Given the description of an element on the screen output the (x, y) to click on. 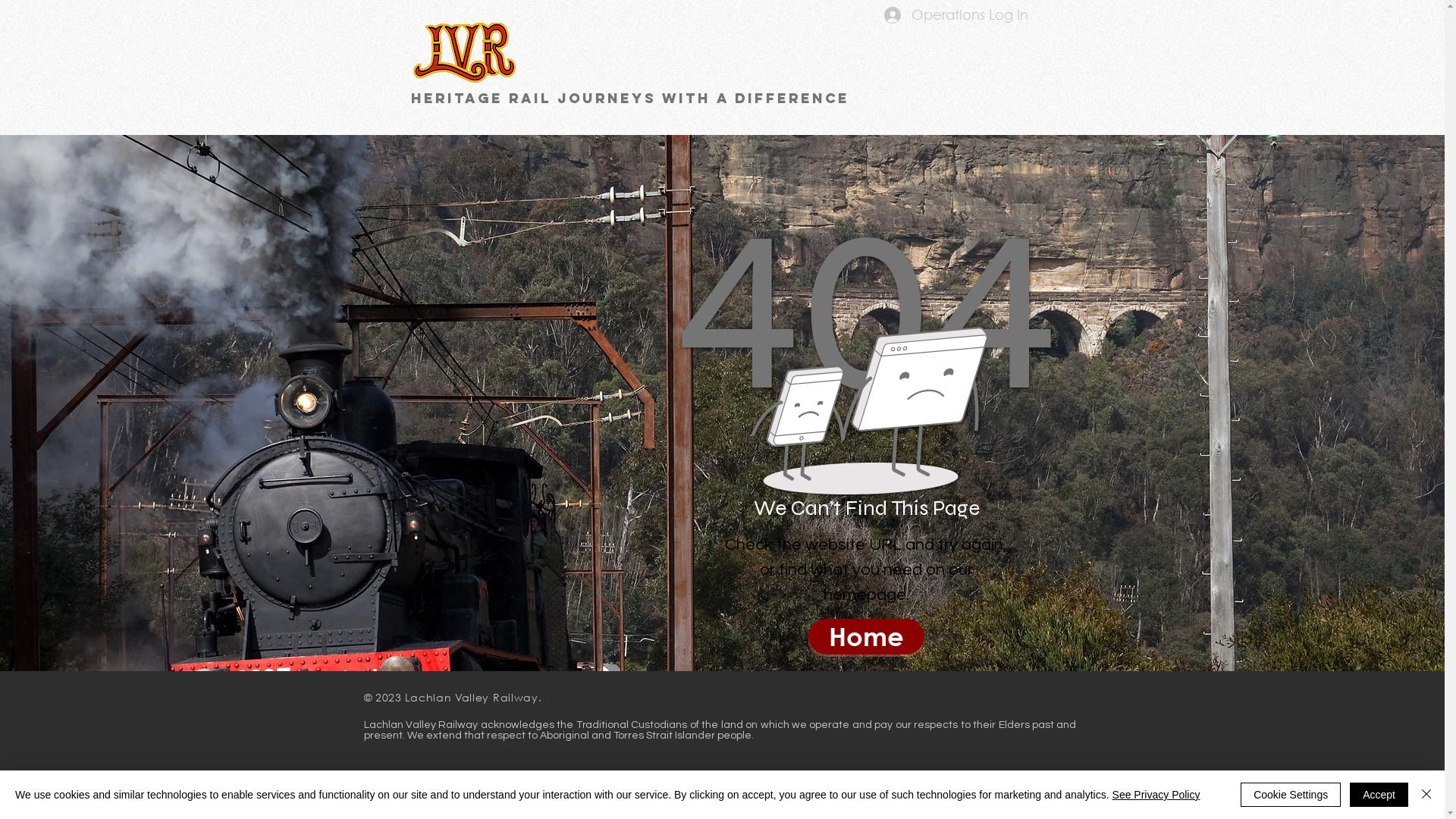
Operations Log In Element type: text (955, 14)
Home Element type: text (866, 636)
